Given the description of an element on the screen output the (x, y) to click on. 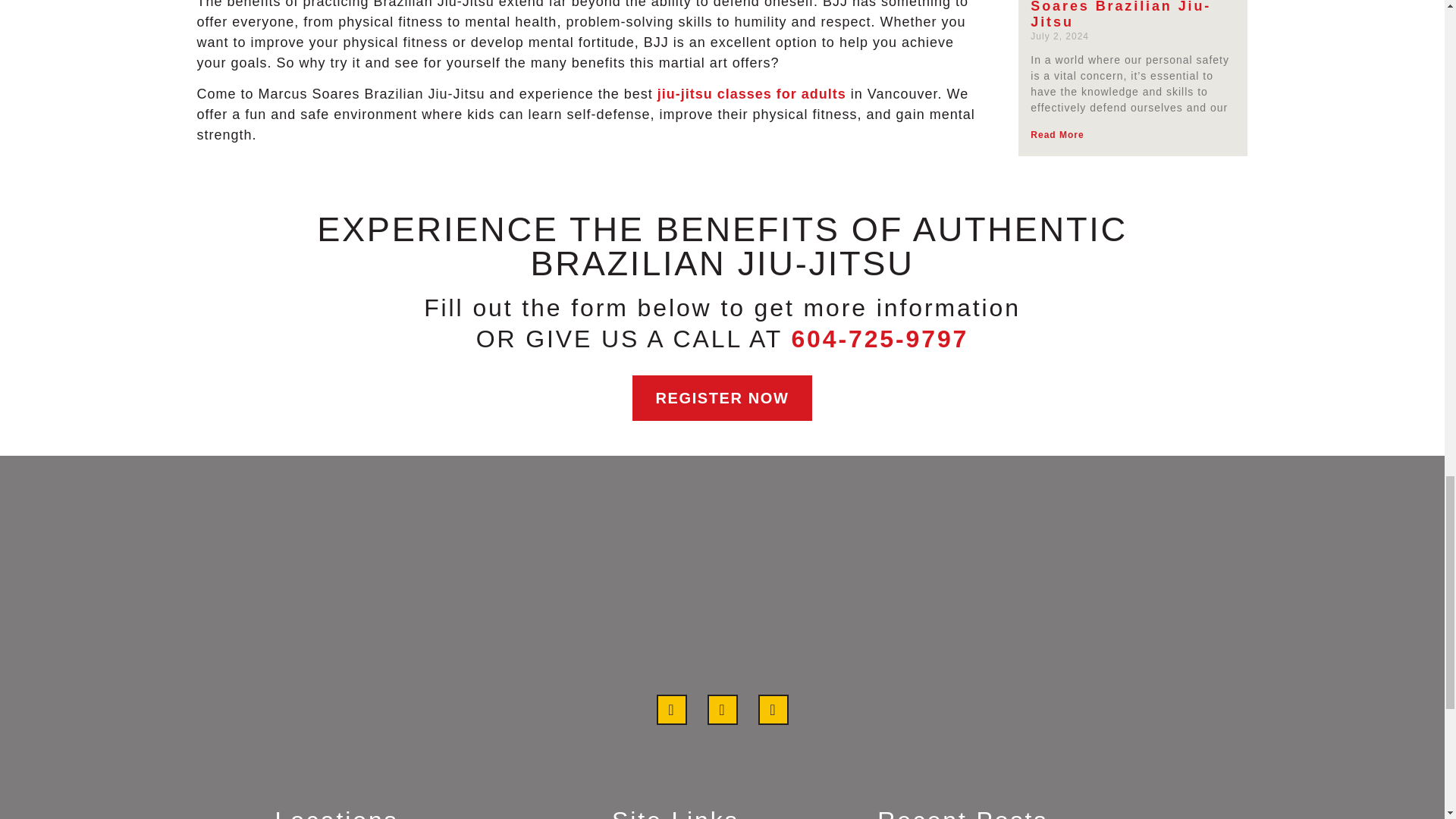
REGISTER NOW (721, 397)
jiu-jitsu classes for adults (751, 93)
604-725-9797 (879, 338)
